Given the description of an element on the screen output the (x, y) to click on. 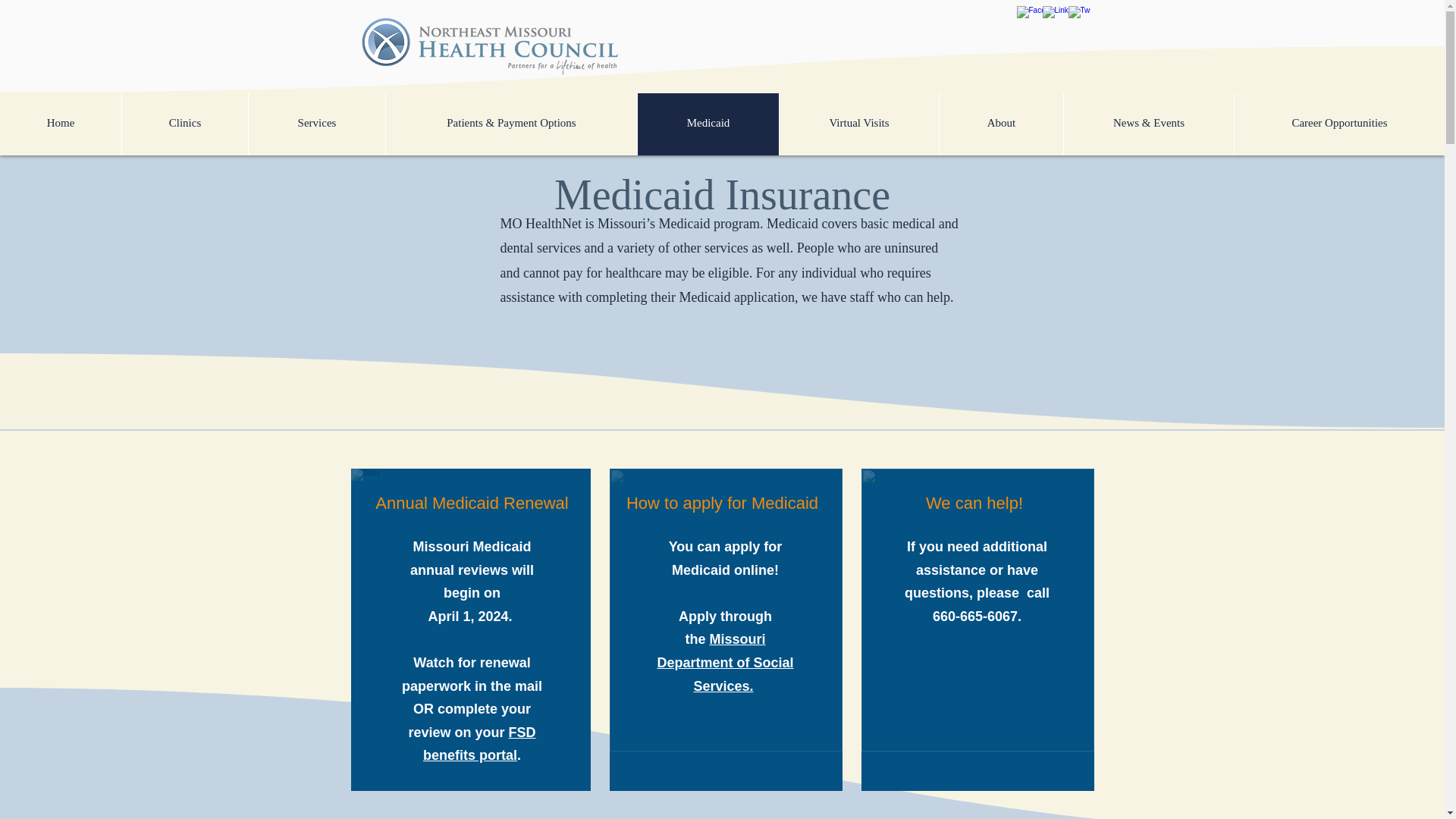
Clinics (183, 122)
Virtual Visits (858, 122)
Medicaid (707, 122)
Home (60, 122)
